Given the description of an element on the screen output the (x, y) to click on. 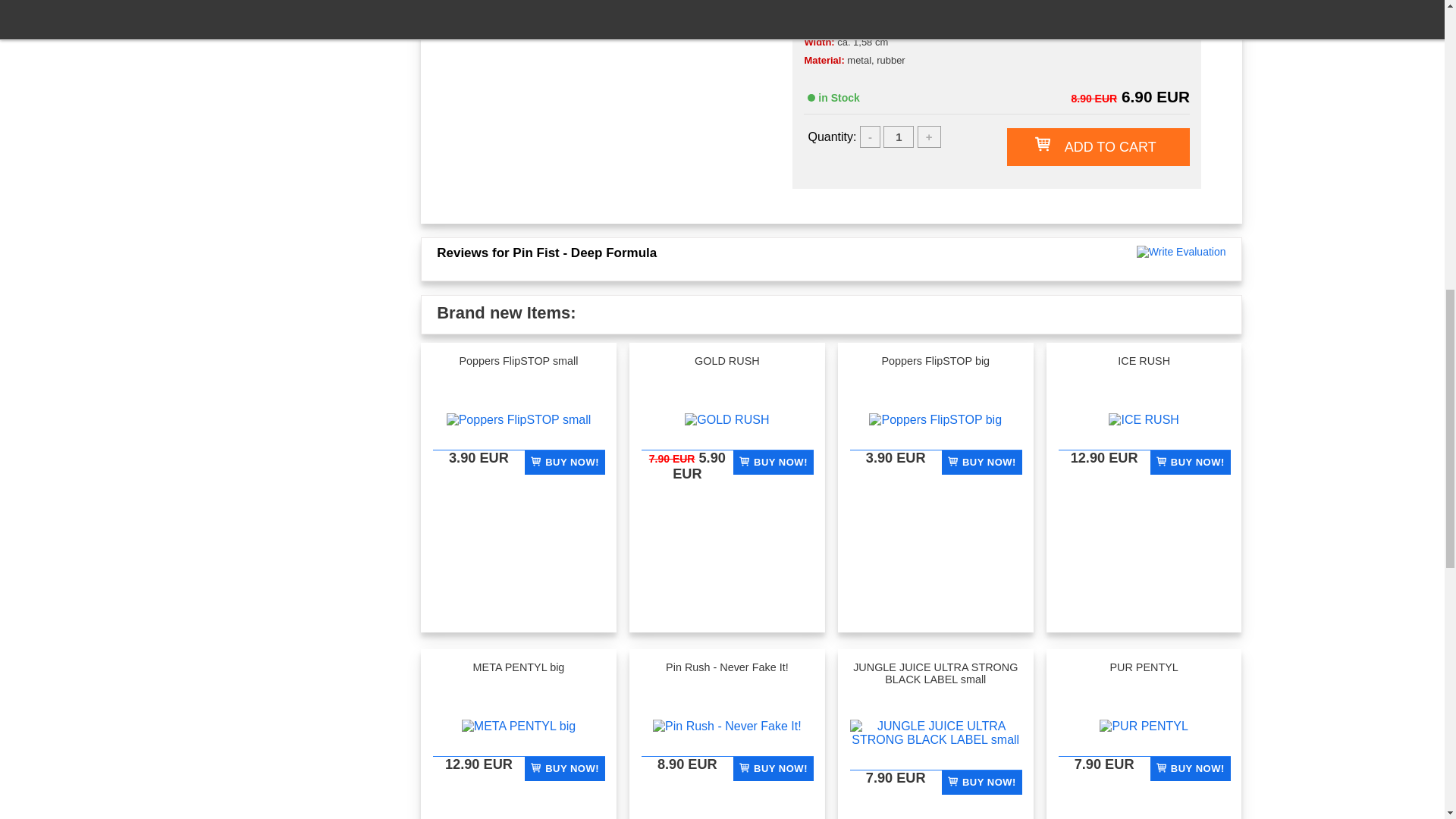
 Write Evaluation  (1181, 251)
1 (898, 137)
